Given the description of an element on the screen output the (x, y) to click on. 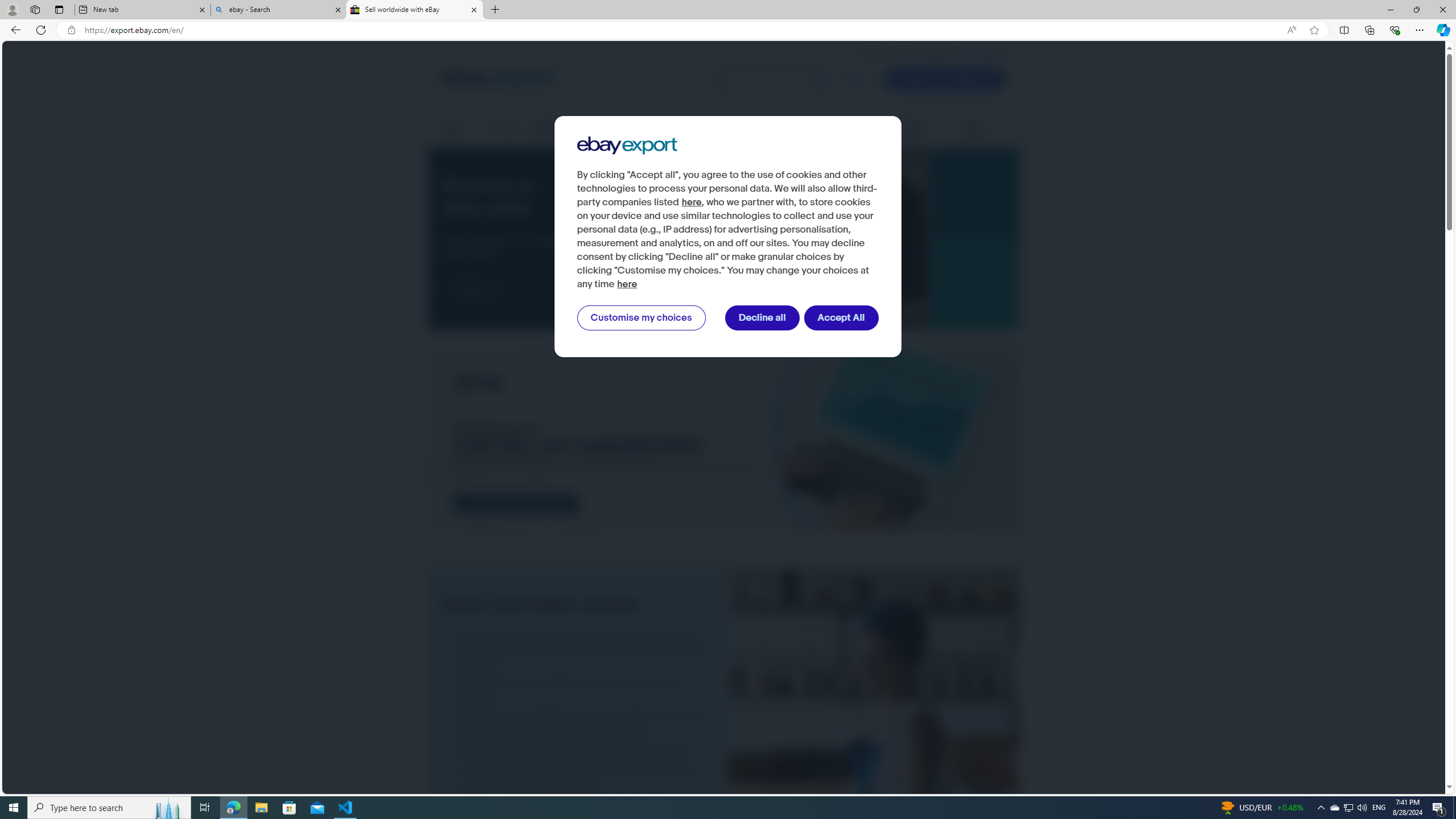
Accept All (841, 317)
Read aloud this page (Ctrl+Shift+U) (1291, 29)
Find out (480, 288)
Class: header__toplink-icon (1001, 54)
eBay Partners (984, 128)
Get eBay product sales research on the go (578, 733)
Marketing (869, 127)
Settings and more (Alt+F) (1419, 29)
Create Your Listing (944, 78)
Sell worldwide with eBay (414, 9)
More marketing capabilities, right from your Active Listings (578, 690)
Copilot (Ctrl+Shift+.) (1442, 29)
Browser essentials (1394, 29)
Workspaces (34, 9)
Empower your advertising with more metrics and control (578, 715)
